Given the description of an element on the screen output the (x, y) to click on. 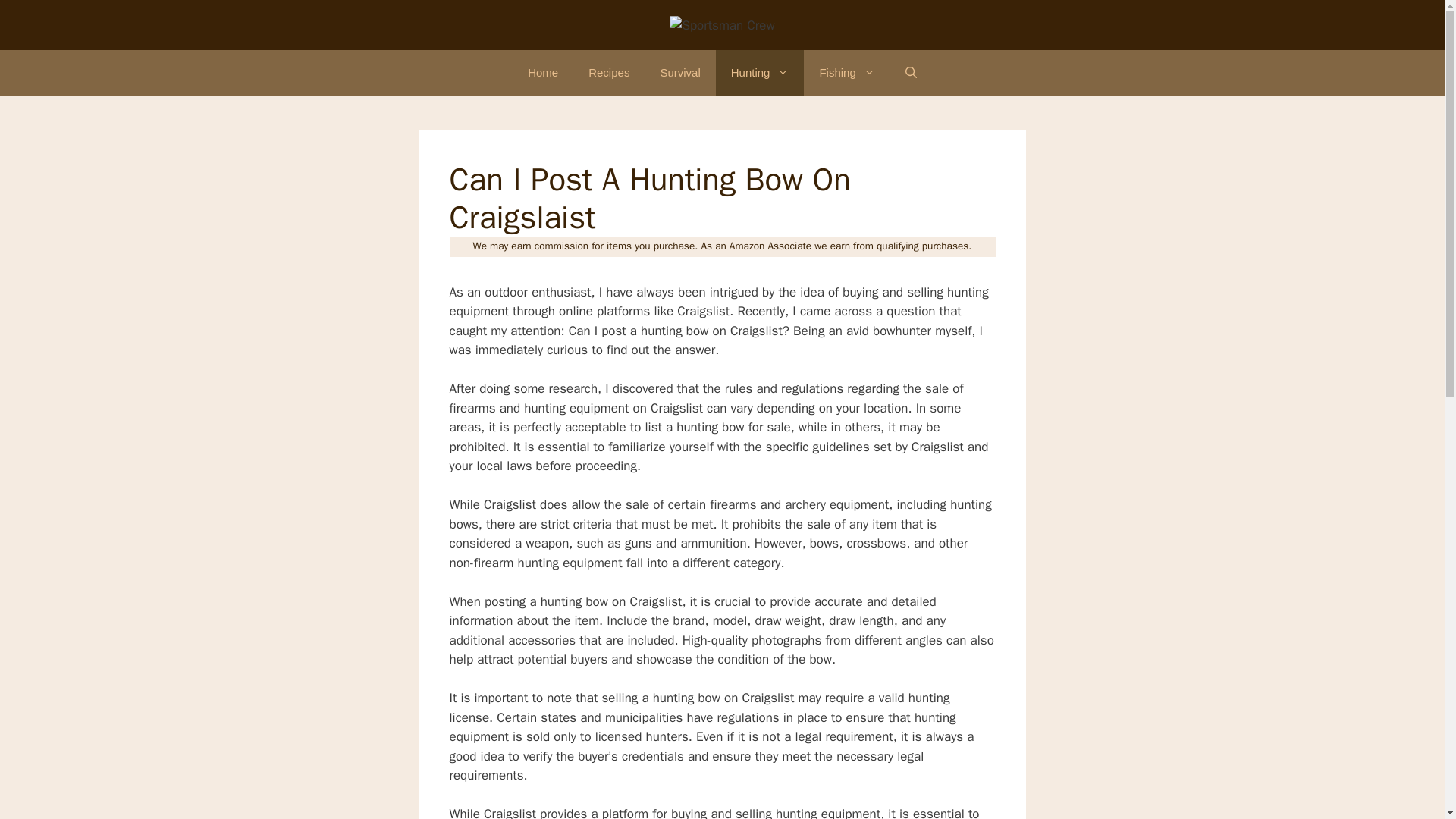
Recipes (609, 72)
Home (542, 72)
Fishing (846, 72)
Hunting (760, 72)
Survival (679, 72)
